Given the description of an element on the screen output the (x, y) to click on. 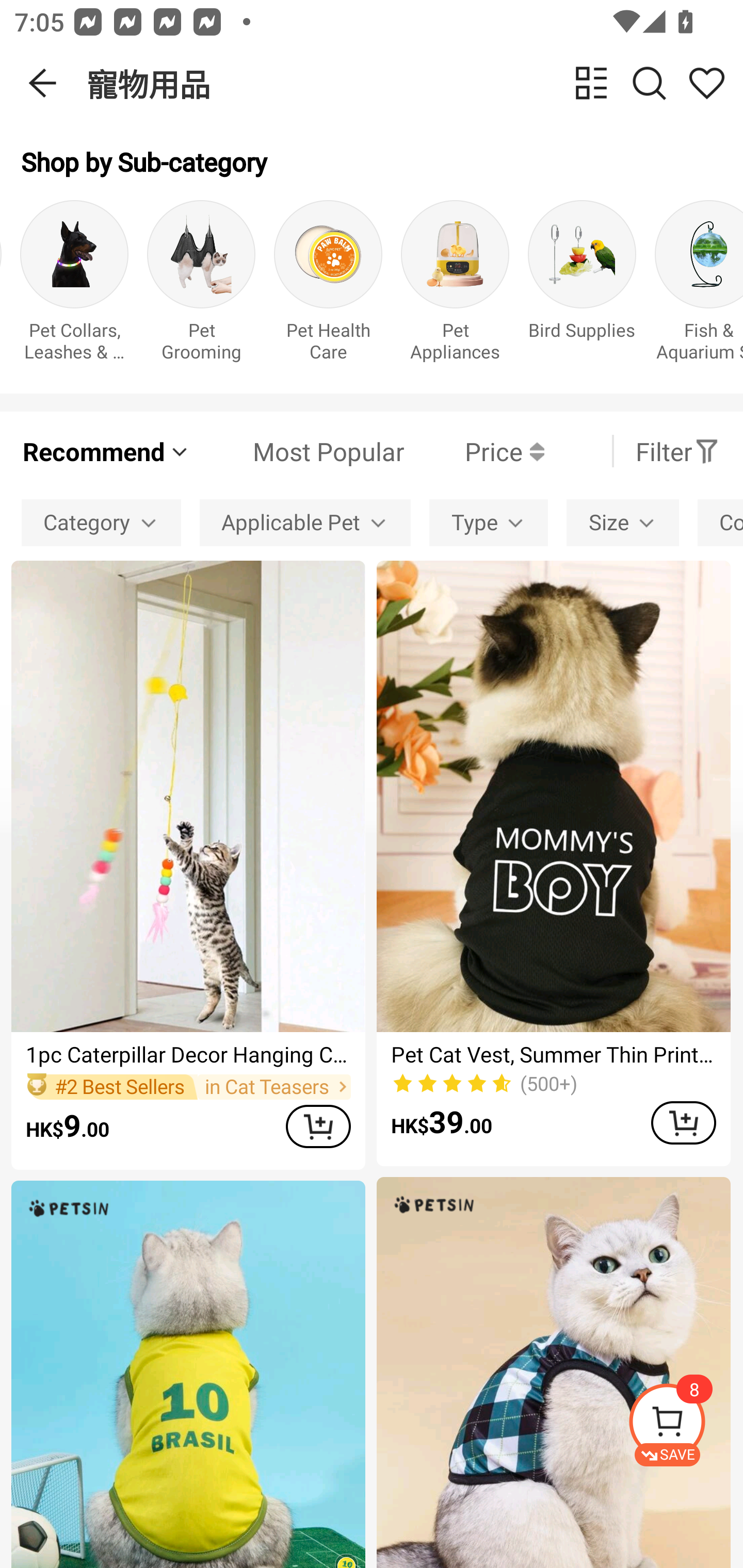
寵物用品 change view Search Share (414, 82)
change view (591, 82)
Search (648, 82)
Share (706, 82)
Pet Collars, Leashes & Harnesses (74, 285)
Pet Grooming (201, 285)
Pet Health Care (328, 285)
Pet Appliances (454, 285)
Bird Supplies (581, 285)
Fish & Aquarium Supplies (698, 285)
Recommend (106, 450)
Most Popular (297, 450)
Price (474, 450)
Filter (677, 450)
Category (101, 521)
Applicable Pet (304, 521)
Type (488, 521)
Size (622, 521)
#2 Best Sellers in Cat Teasers (188, 1086)
ADD TO CART (683, 1122)
ADD TO CART (318, 1126)
PETSIN 1pc Plaid Pattern Pet Tank (553, 1372)
PETSIN Letter Graphic Pet Tank (188, 1374)
SAVE (685, 1424)
